Given the description of an element on the screen output the (x, y) to click on. 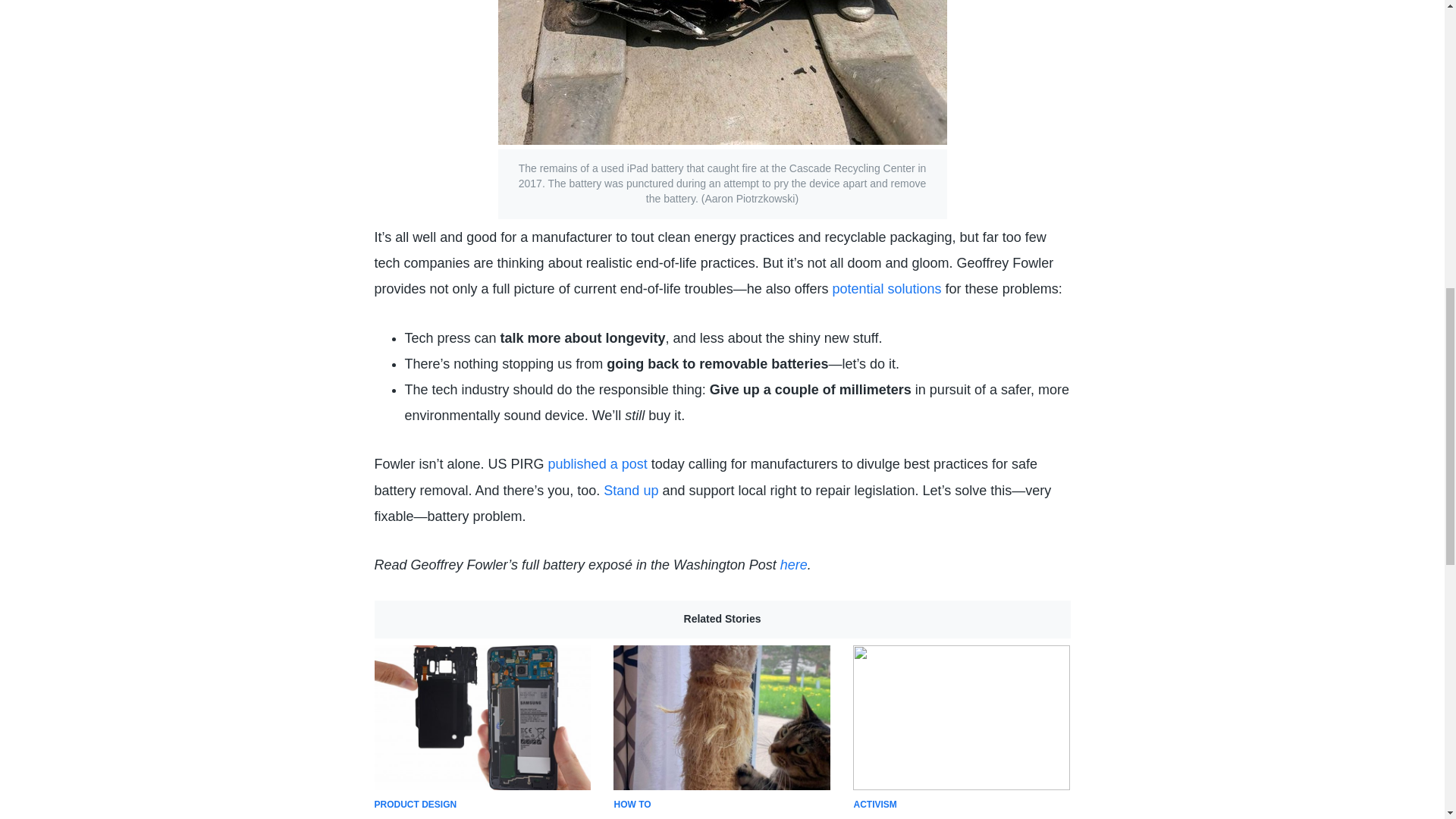
here (794, 564)
published a post (720, 732)
Stand up (961, 732)
potential solutions (597, 463)
